Given the description of an element on the screen output the (x, y) to click on. 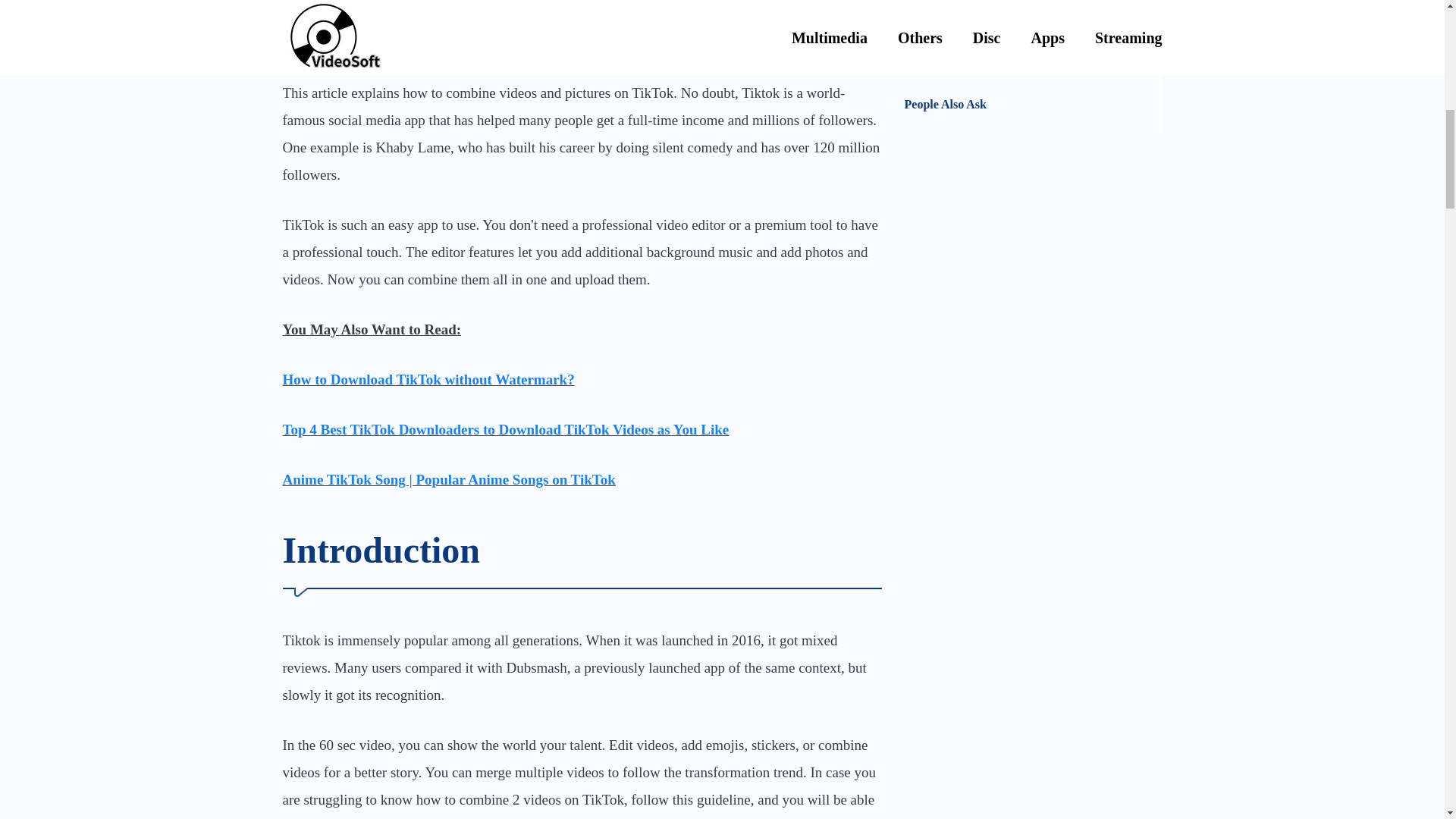
Method 2: Use DVDFab Video Merger (1030, 24)
People Also Ask (1030, 104)
Method 1: Combine Videos on TikTok (1030, 6)
Conclusion (1030, 65)
How to Download TikTok without Watermark? (427, 379)
